Given the description of an element on the screen output the (x, y) to click on. 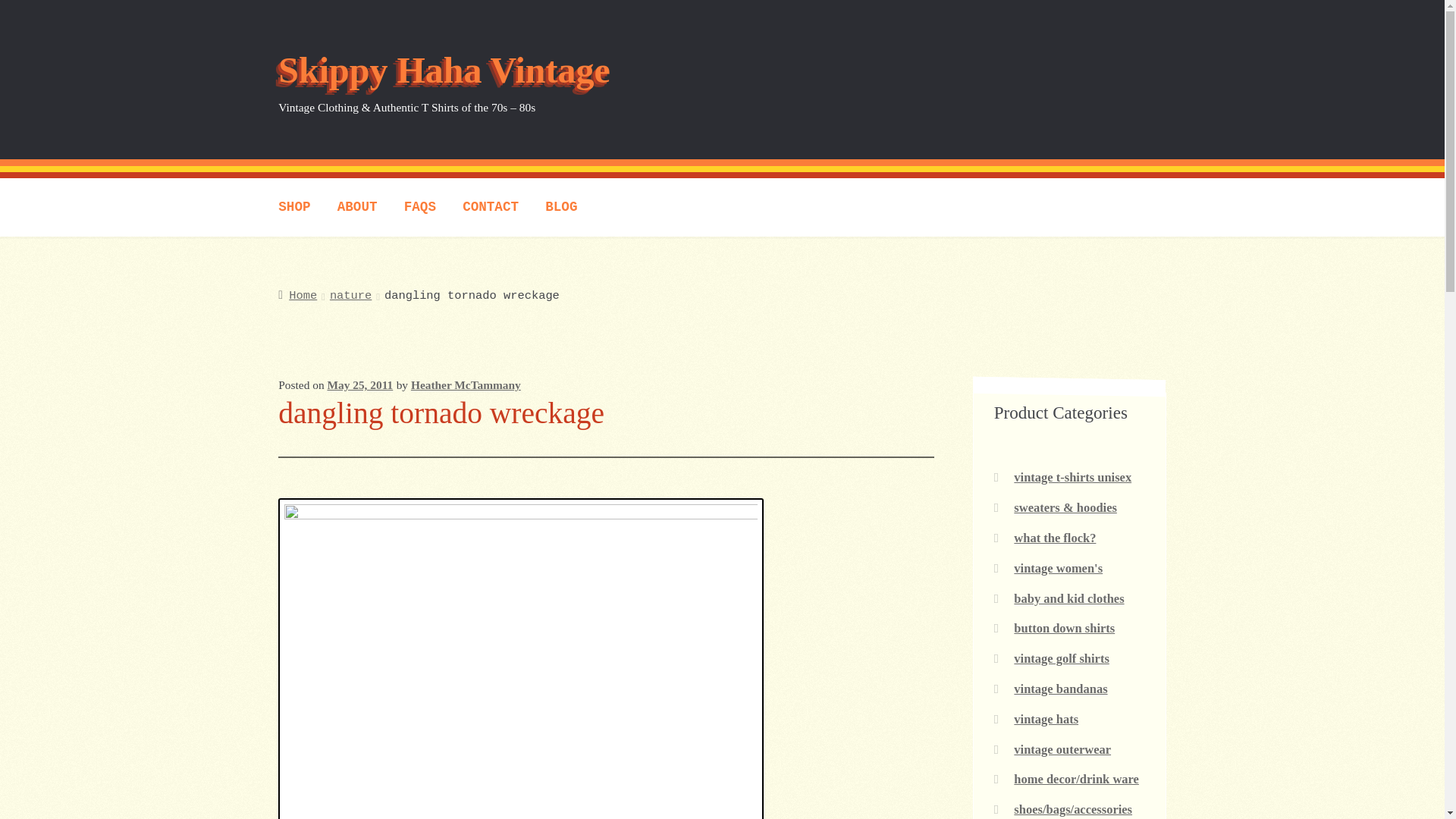
Home (297, 295)
BLOG (561, 207)
CONTACT (490, 207)
SHOP (293, 207)
Heather McTammany (465, 384)
vintage t-shirts unisex (1072, 477)
May 25, 2011 (359, 384)
Skippy Haha Vintage (444, 69)
nature (350, 295)
